Given the description of an element on the screen output the (x, y) to click on. 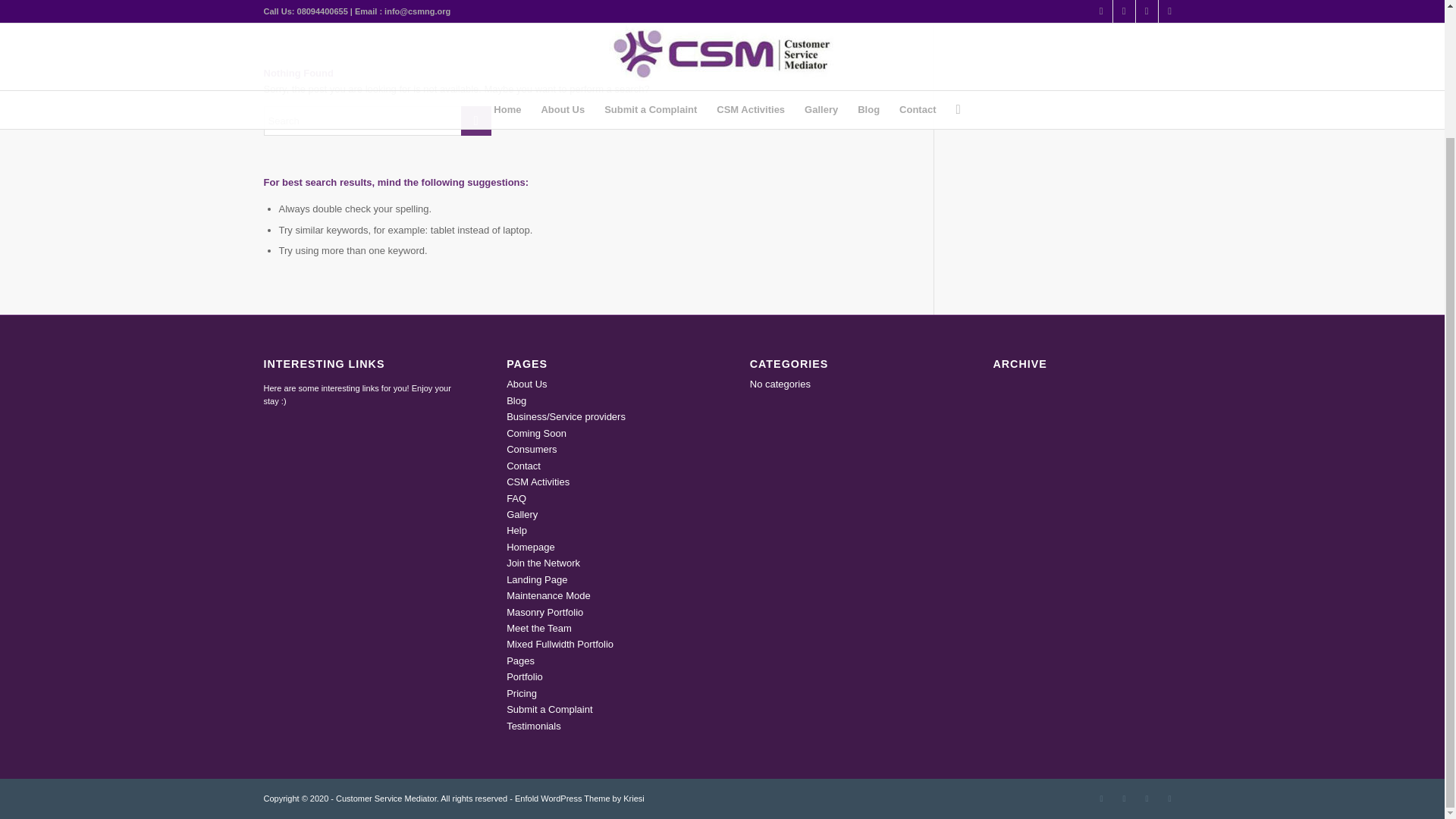
Home (1101, 1)
Maintenance Mode (548, 595)
Contact (523, 465)
Meet the Team (539, 627)
Join the Network (542, 562)
Homepage (530, 546)
Instagram (1146, 798)
Landing Page (536, 579)
LinkedIn (1124, 798)
Customer Service Mediator (1101, 1)
